Given the description of an element on the screen output the (x, y) to click on. 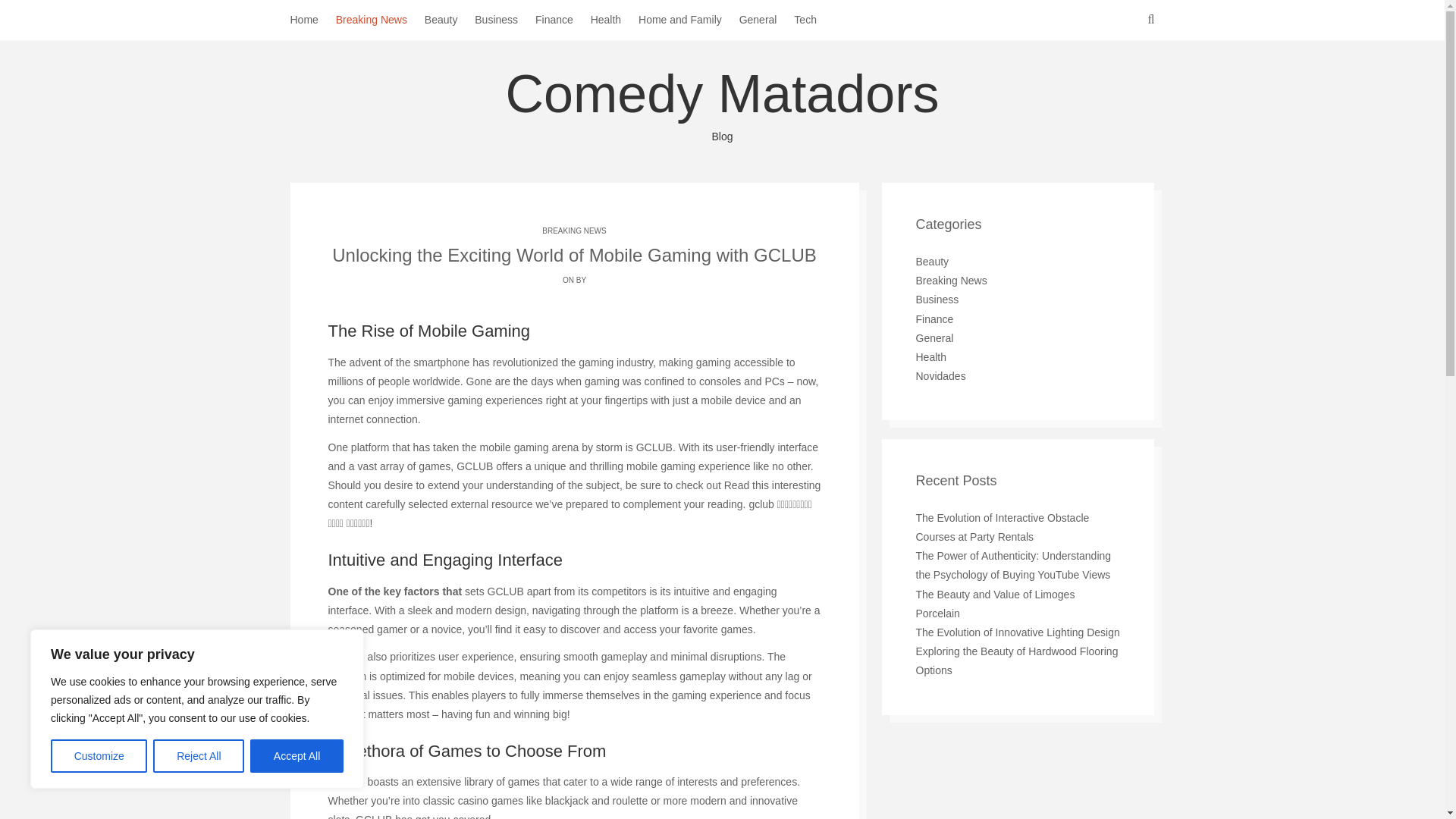
Business (504, 20)
Read this interesting content (574, 494)
BREAKING NEWS (573, 230)
Customize (98, 756)
Home (312, 20)
Reject All (198, 756)
Tech (813, 20)
Breaking News (380, 20)
General (766, 20)
Beauty (450, 20)
